Given the description of an element on the screen output the (x, y) to click on. 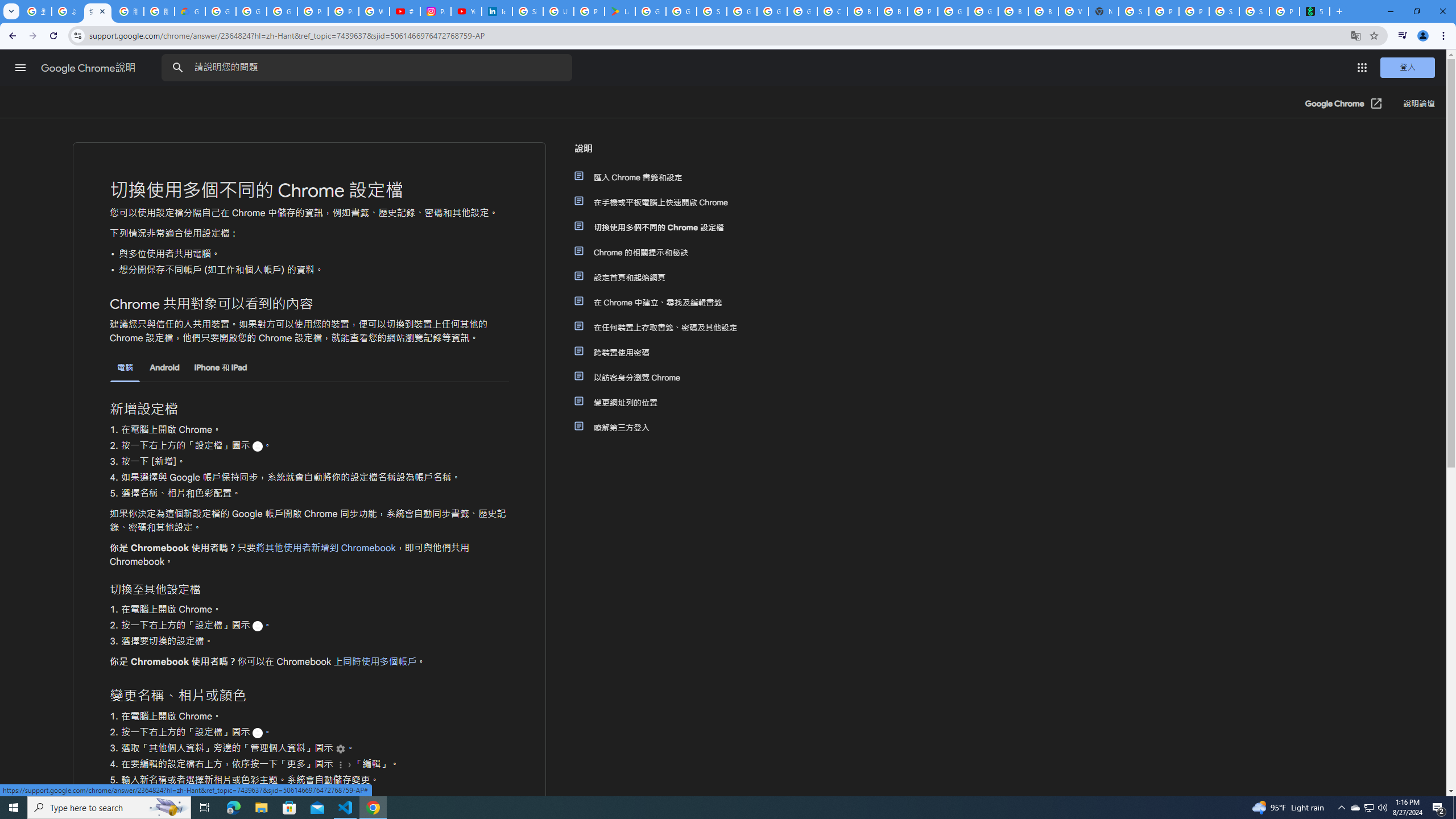
Google Cloud Platform (952, 11)
